Given the description of an element on the screen output the (x, y) to click on. 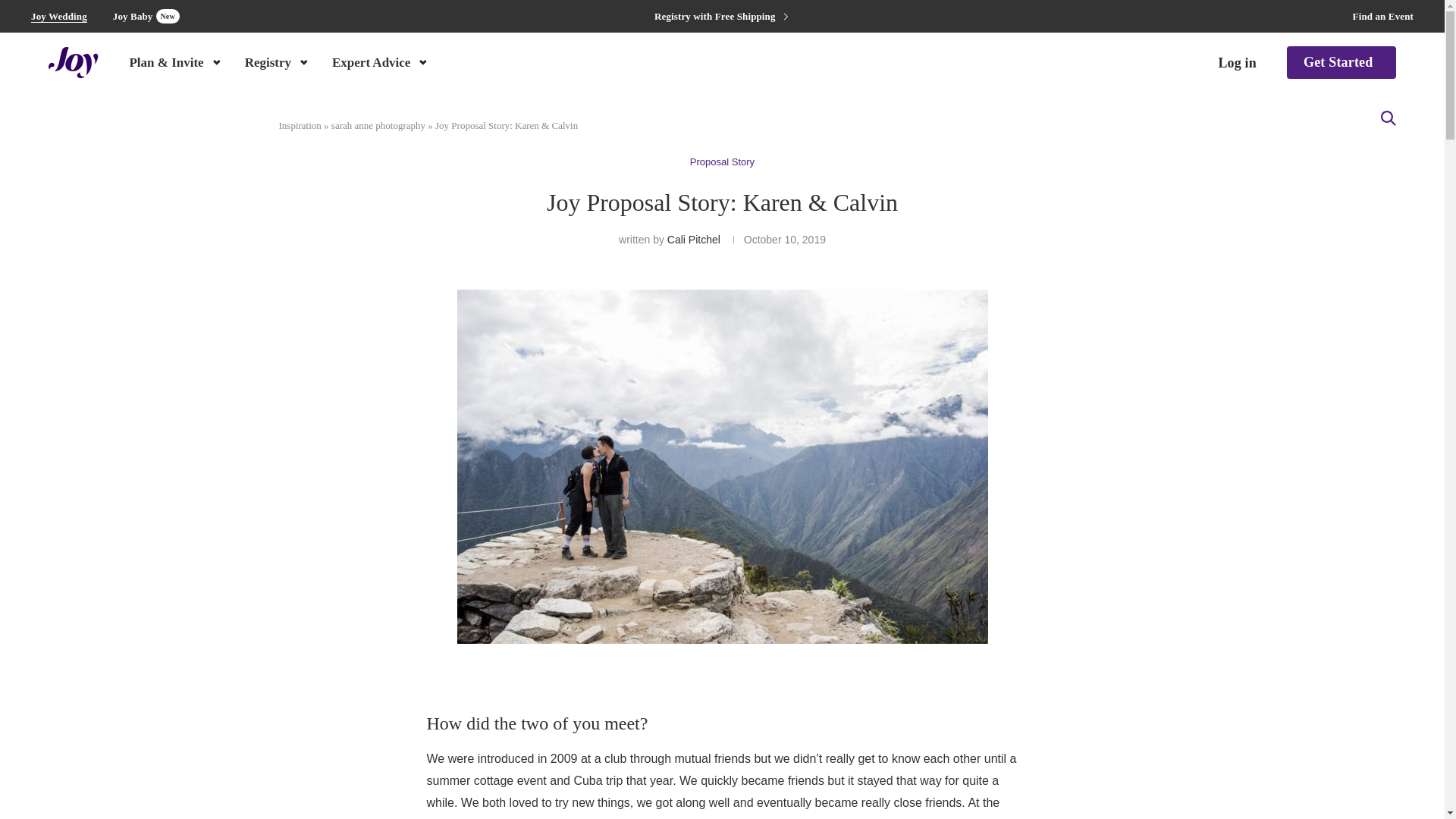
Find an Event (1382, 16)
Joy Wedding (58, 16)
Registry (277, 61)
Get Started (1341, 61)
Log in (1236, 62)
Expert Advice (380, 61)
Find an Event (1382, 16)
